Given the description of an element on the screen output the (x, y) to click on. 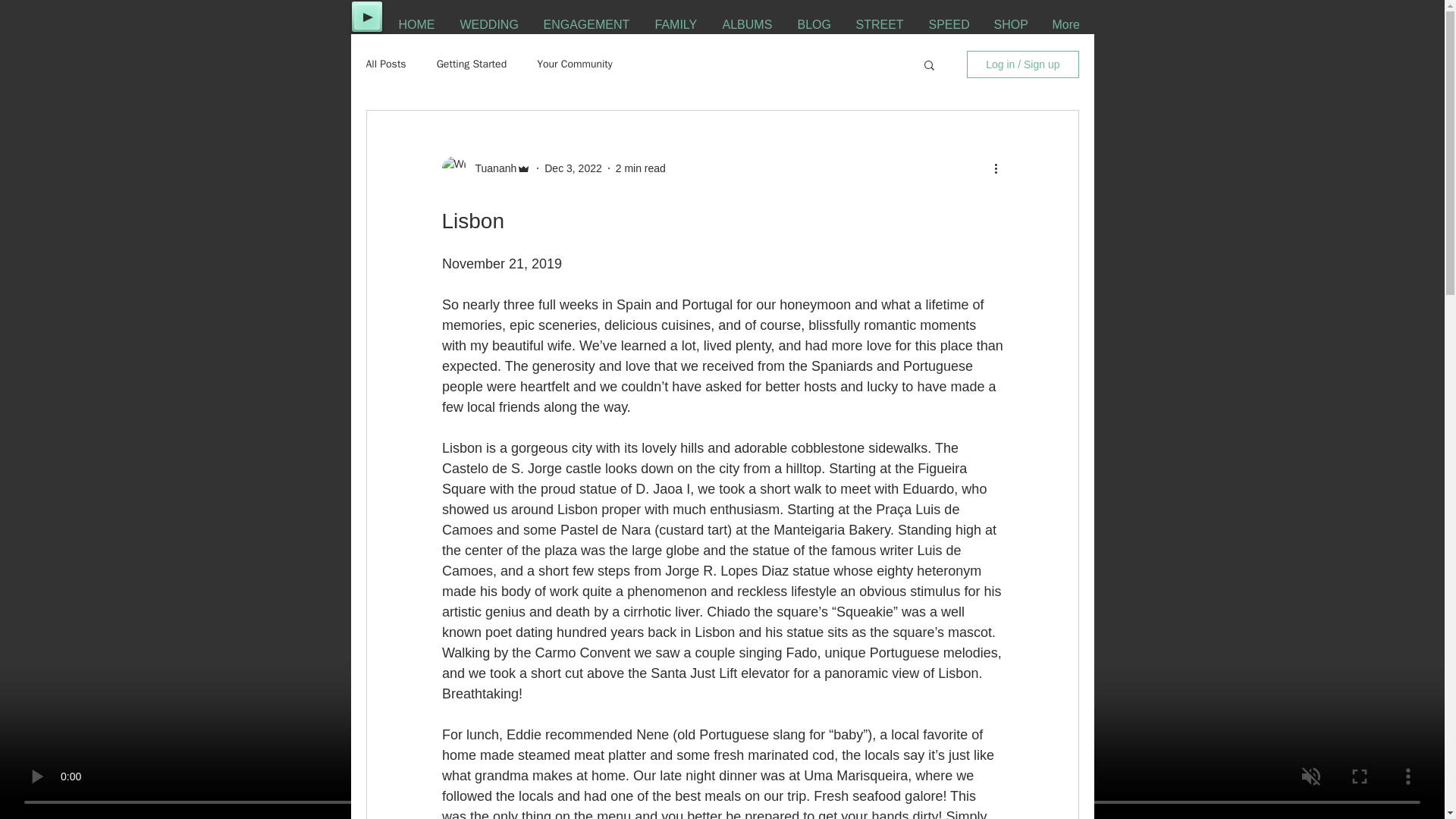
SPEED (949, 24)
Dec 3, 2022 (573, 168)
BLOG (815, 24)
FAMILY (676, 24)
ALBUMS (748, 24)
Getting Started (471, 64)
2 min read (640, 168)
SHOP (1011, 24)
HOME (417, 24)
Log In (1046, 57)
ENGAGEMENT (587, 24)
WEDDING (490, 24)
Your Community (574, 64)
All Posts (385, 64)
Tuananh  (490, 168)
